Given the description of an element on the screen output the (x, y) to click on. 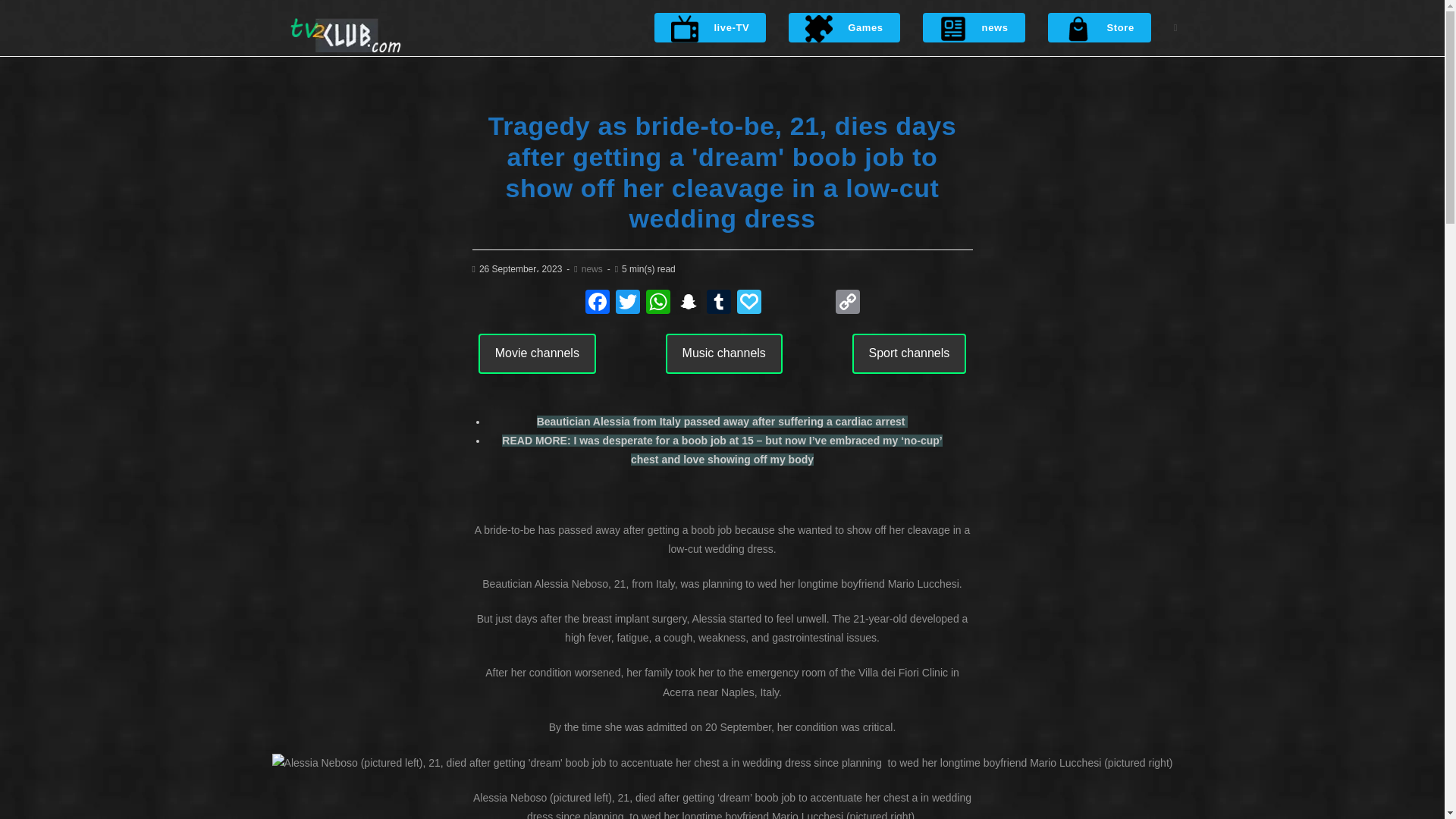
Tumblr (718, 303)
live-TV (710, 28)
Music channels (724, 353)
Snapchat (687, 303)
WhatsApp (657, 303)
Twitter (627, 303)
Games (844, 28)
Papaly (748, 303)
Twitter (627, 303)
Facebook (597, 303)
Sport channels (908, 353)
Copy Link (847, 303)
Snapchat (687, 303)
news (591, 268)
Facebook (597, 303)
